Given the description of an element on the screen output the (x, y) to click on. 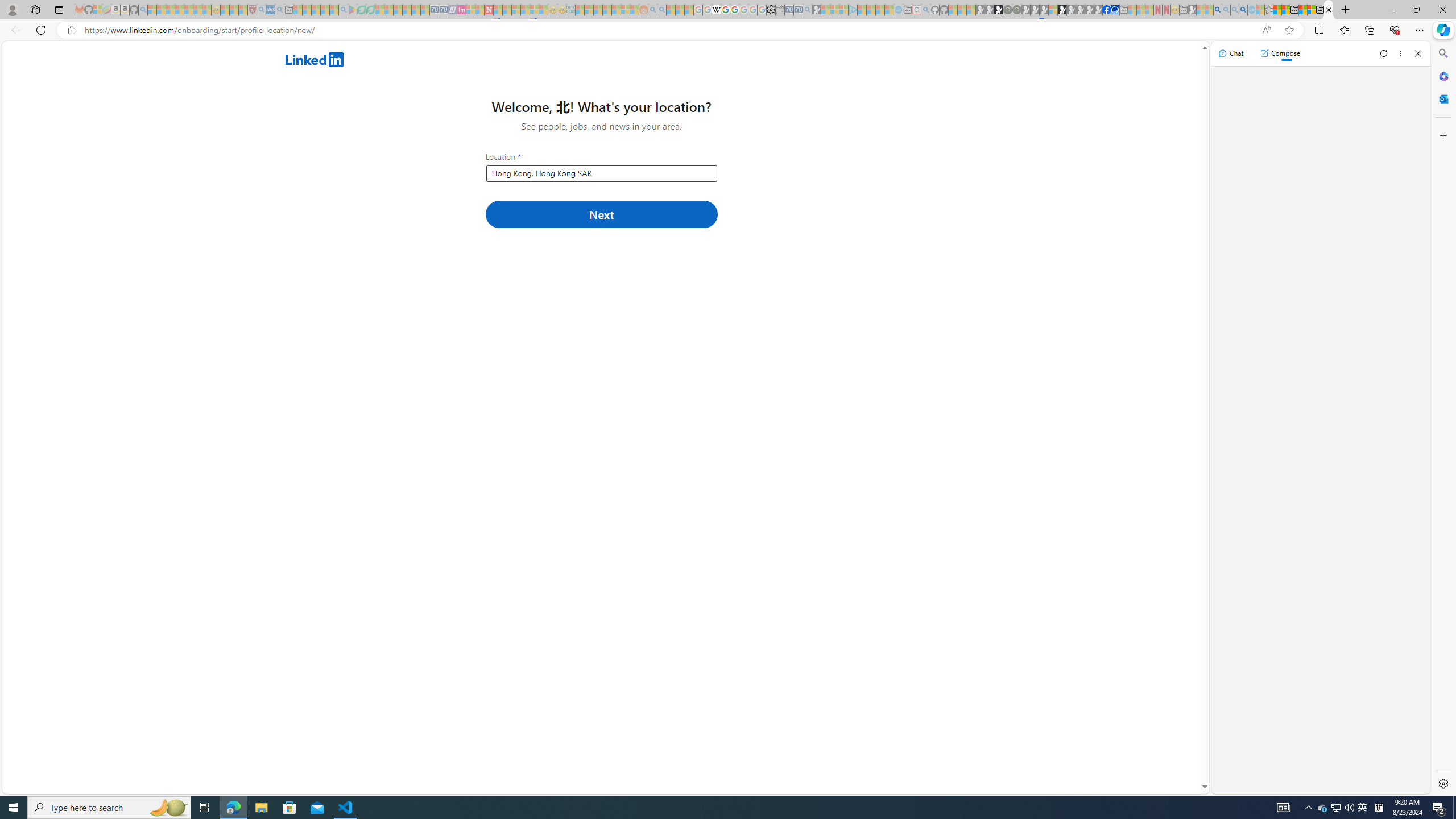
Sign in to your account - Sleeping (1052, 9)
Home | Sky Blue Bikes - Sky Blue Bikes - Sleeping (898, 9)
Bluey: Let's Play! - Apps on Google Play - Sleeping (352, 9)
Recipes - MSN - Sleeping (224, 9)
